Given the description of an element on the screen output the (x, y) to click on. 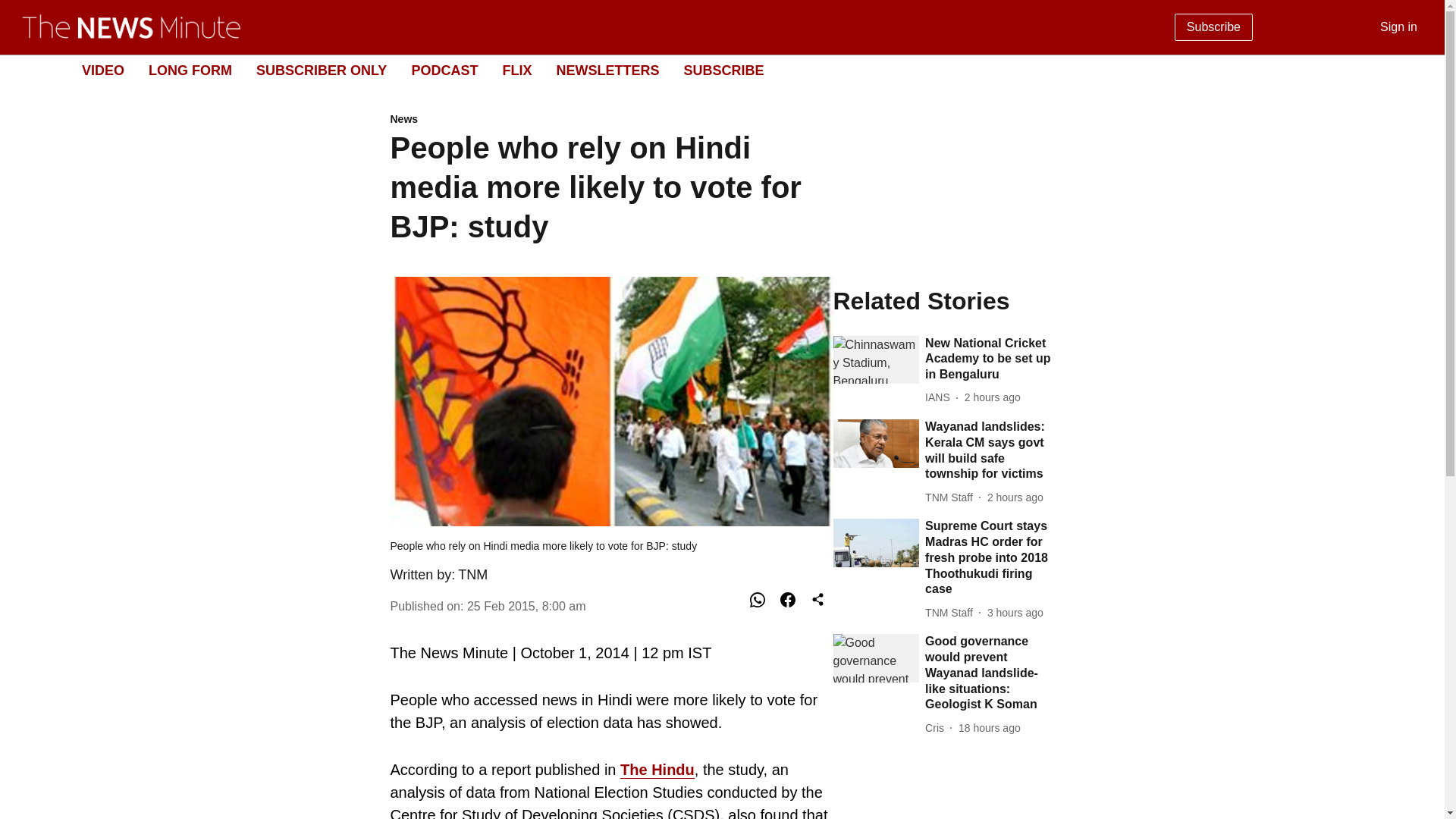
VIDEO (102, 70)
New National Cricket Academy to be set up in Bengaluru (989, 359)
2015-02-25 00:00 (526, 605)
2024-08-04 06:27 (991, 397)
2024-08-04 06:04 (1015, 497)
NEWSLETTERS (607, 70)
News (611, 119)
FLIX (516, 70)
The Hindu (657, 769)
PODCAST (443, 70)
TNM (472, 574)
LONG FORM (189, 70)
SUBSCRIBER ONLY (321, 70)
